Given the description of an element on the screen output the (x, y) to click on. 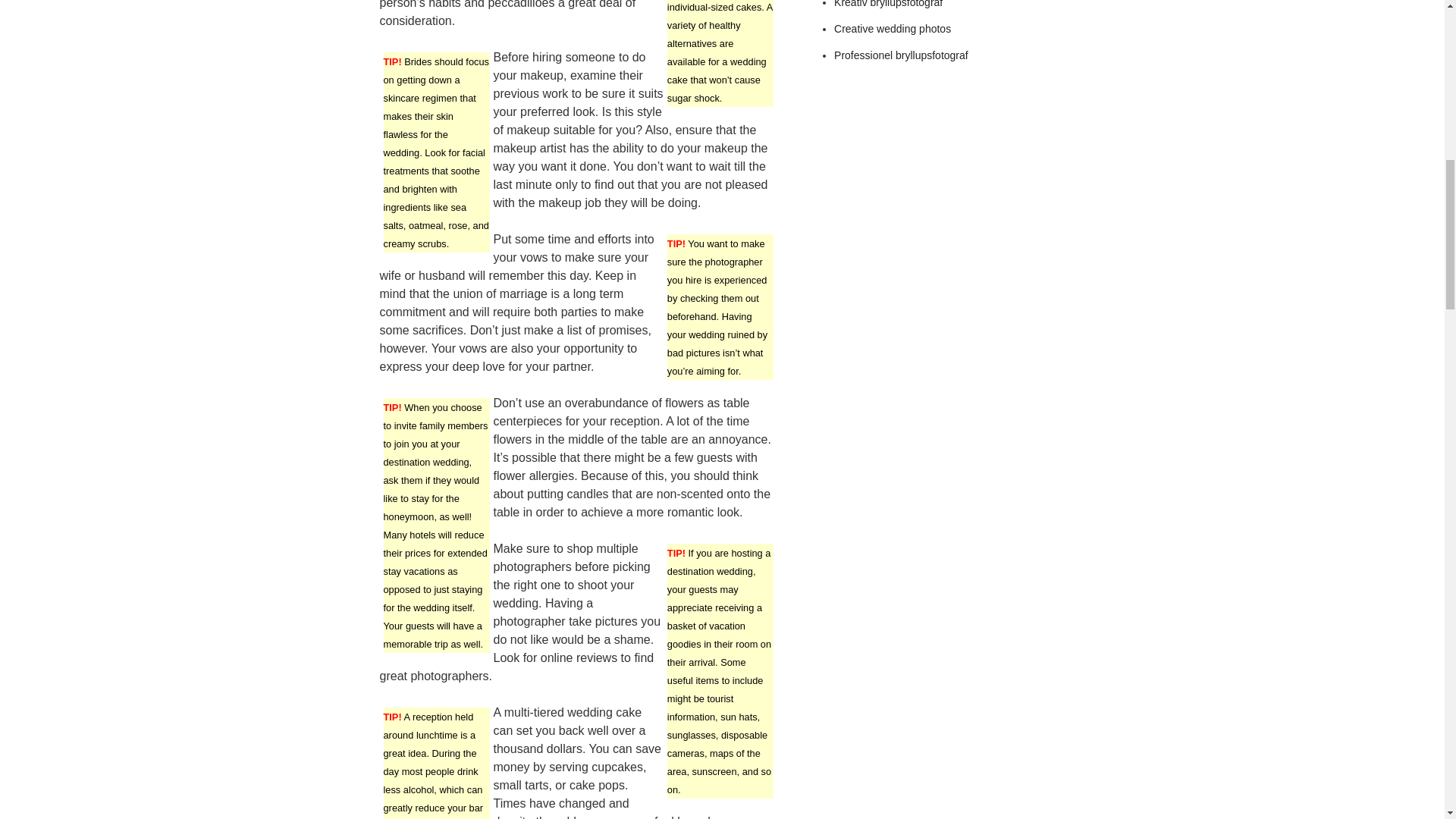
Creative wedding photos (892, 28)
Kreativ bryllupsfotograf (888, 4)
Professionel bryllupsfotograf (901, 55)
